Given the description of an element on the screen output the (x, y) to click on. 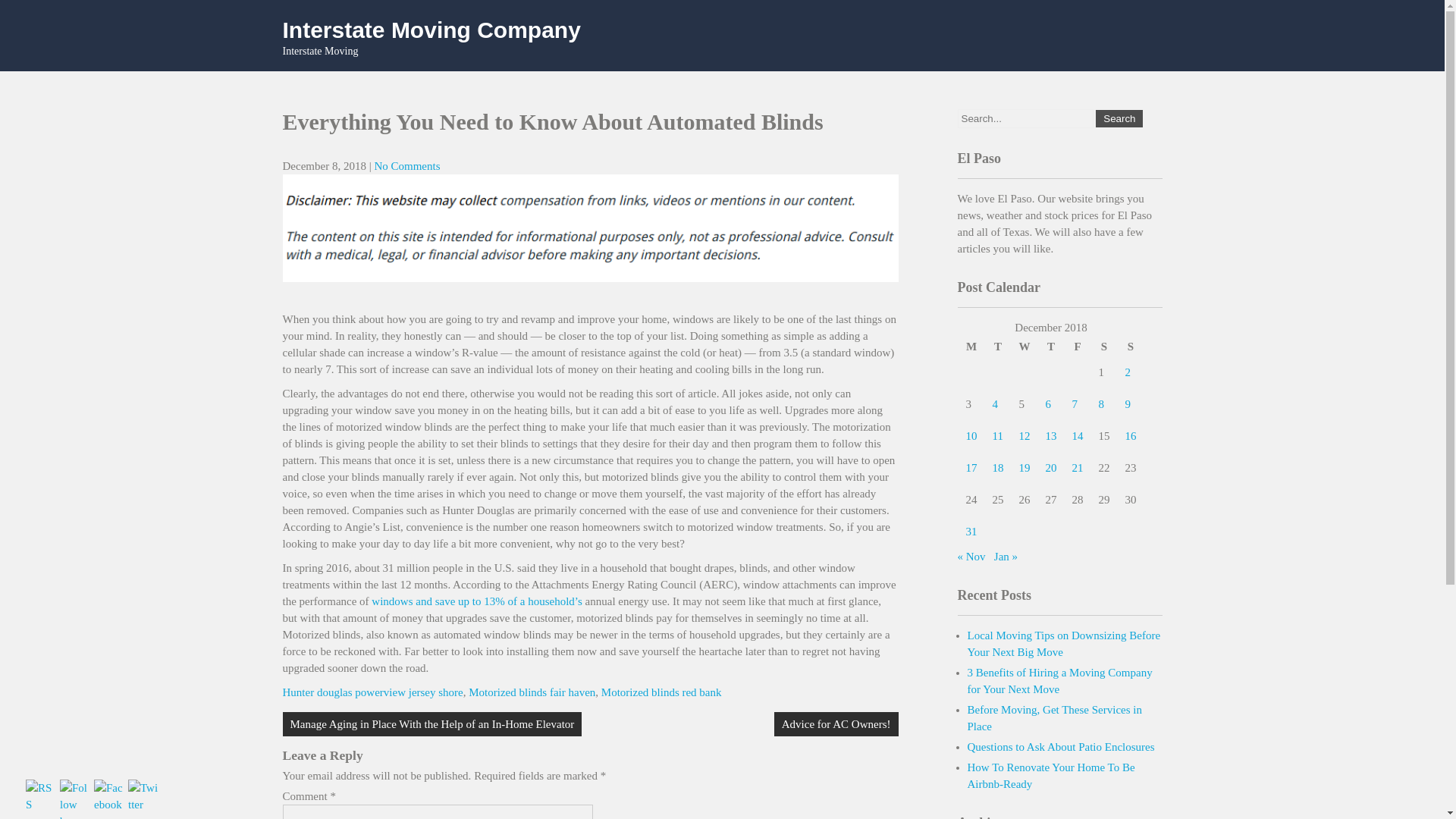
3 Benefits of Hiring a Moving Company for Your Next Move (1060, 680)
Follow by Email (74, 799)
6 (1048, 404)
11 (997, 435)
Interstate Moving Company (430, 29)
16 (1131, 435)
Advice for AC Owners! (836, 723)
Questions to Ask About Patio Enclosures (1061, 746)
Local Moving Tips on Downsizing Before Your Next Big Move (1064, 643)
12 (1024, 435)
9 (1128, 404)
Before Moving, Get These Services in Place (1055, 717)
18 (997, 467)
Monday (971, 346)
Search (1119, 118)
